Given the description of an element on the screen output the (x, y) to click on. 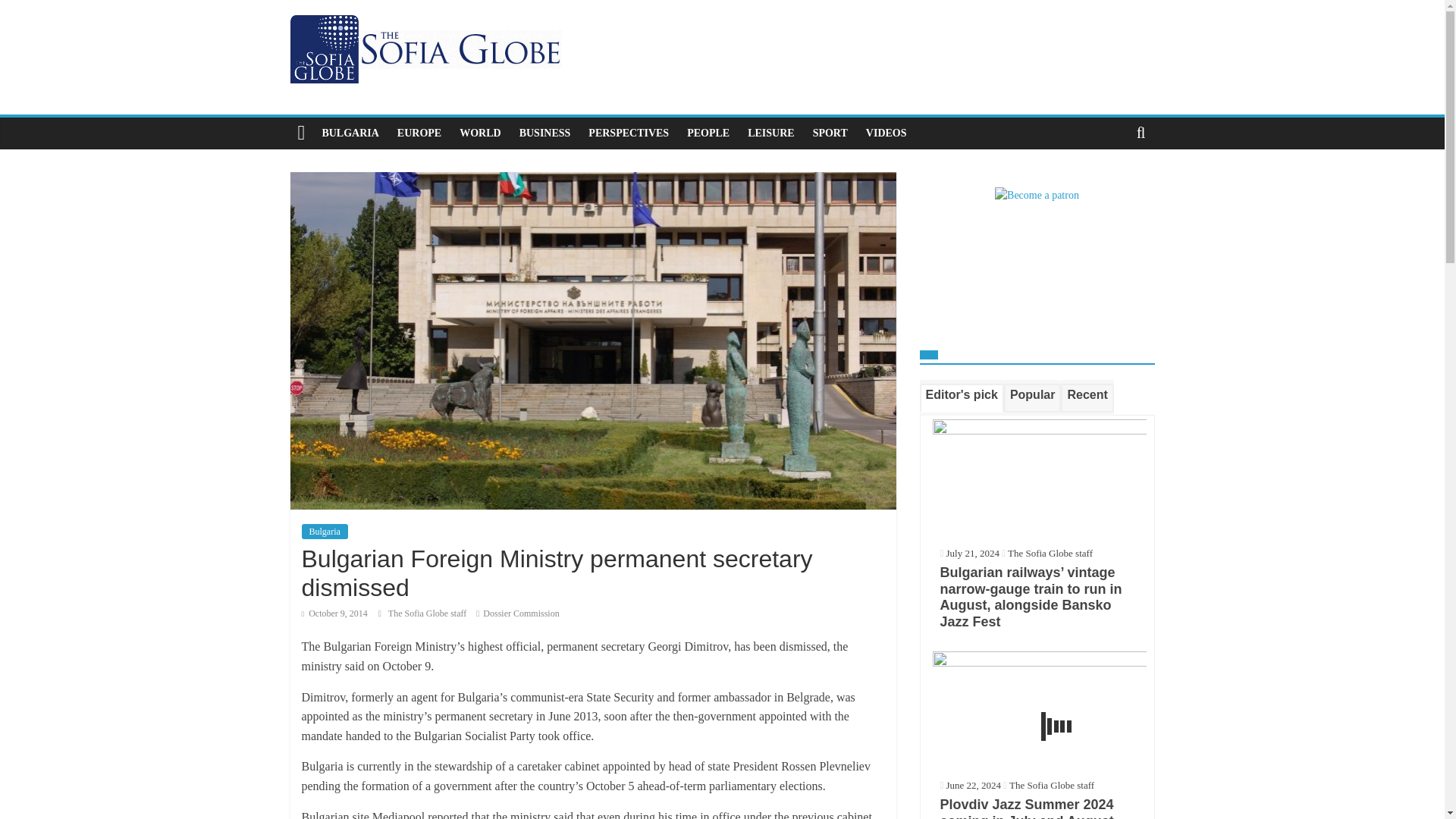
VIDEOS (886, 133)
The Sofia Globe staff (1050, 552)
SPORT (830, 133)
PEOPLE (708, 133)
3:38 PM (334, 613)
Bulgaria (324, 531)
October 9, 2014 (334, 613)
BULGARIA (350, 133)
Dossier Commission (521, 613)
BUSINESS (545, 133)
July 21, 2024 (969, 552)
EUROPE (418, 133)
WORLD (479, 133)
LEISURE (770, 133)
PERSPECTIVES (628, 133)
